Given the description of an element on the screen output the (x, y) to click on. 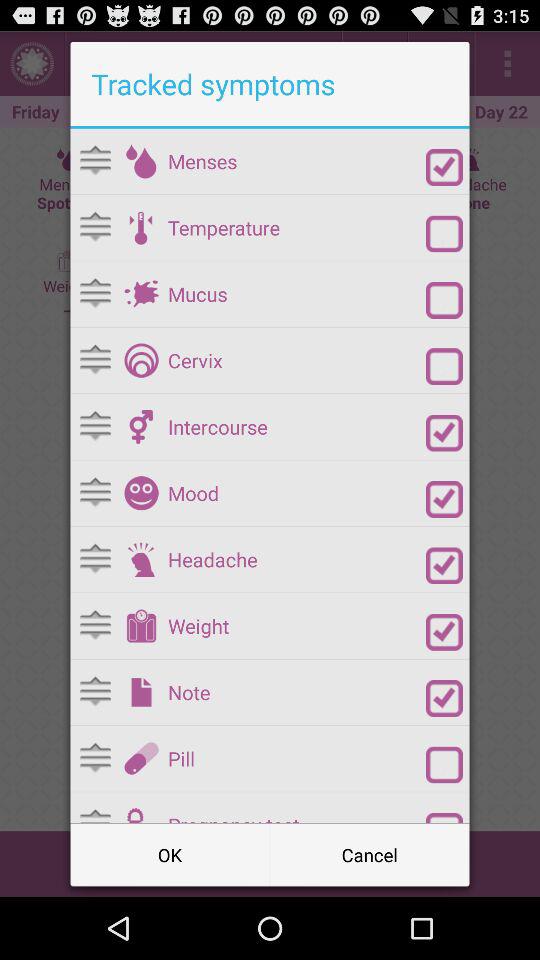
click to select (444, 300)
